Given the description of an element on the screen output the (x, y) to click on. 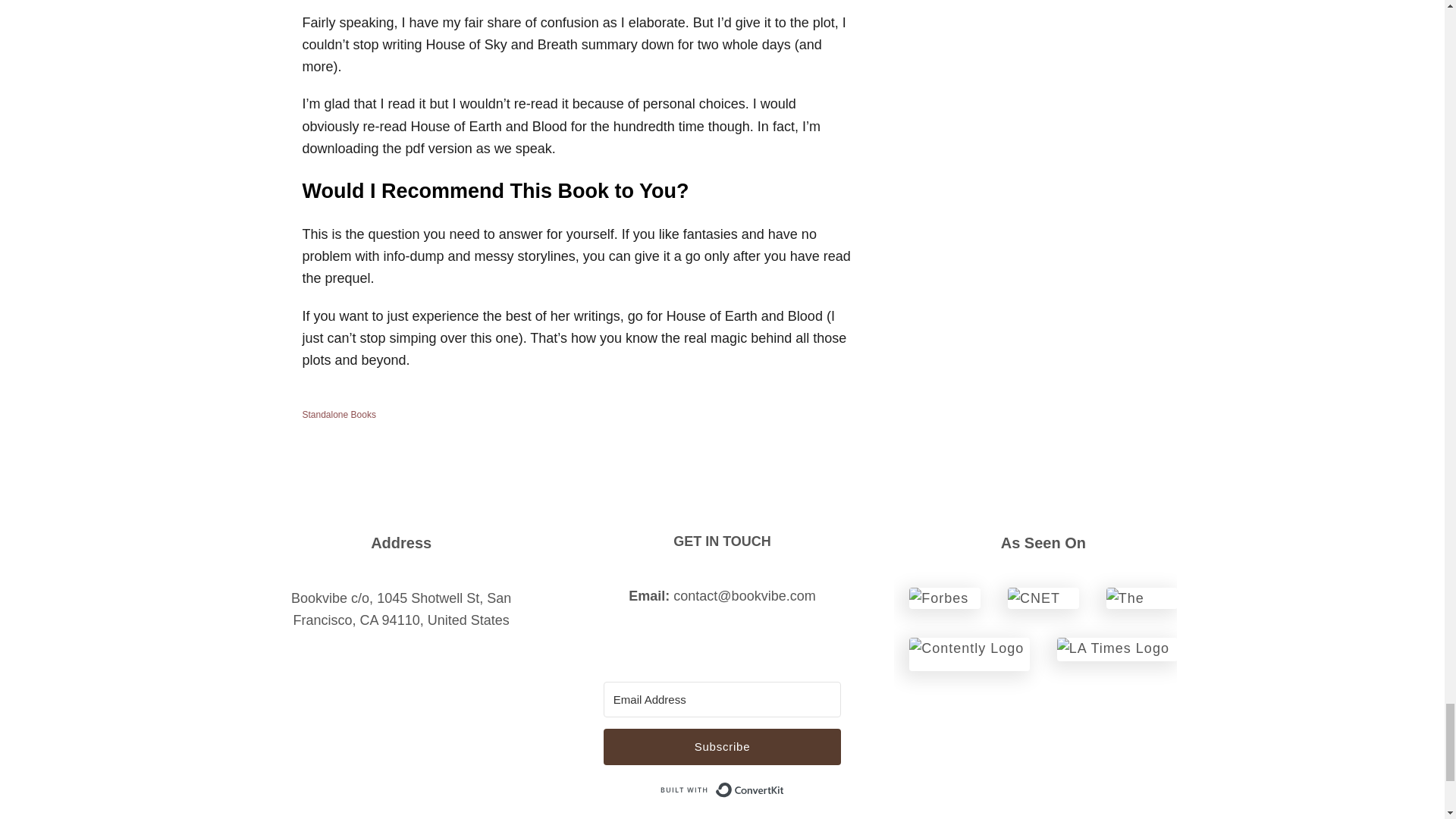
Subscribe (722, 746)
Built With ConvertKit (721, 789)
Standalone Books (338, 414)
